Given the description of an element on the screen output the (x, y) to click on. 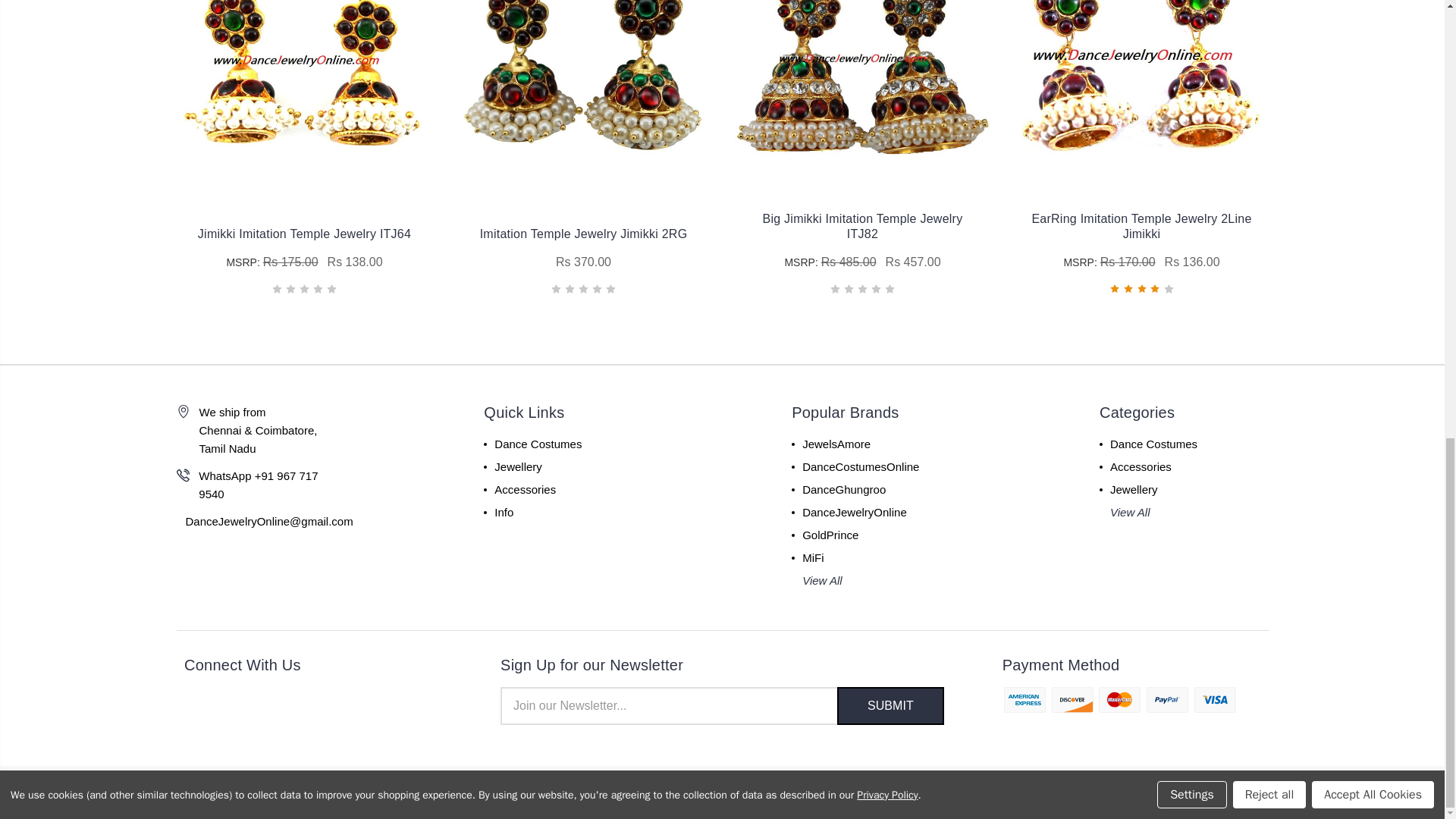
Big Jimikki Imitation Temple Jewelry ITJ82 (861, 79)
EarRing Imitation Temple Jewelry 2Line Jimikki (1141, 89)
Dance Jewellery Earring (582, 82)
submit (890, 705)
Jimikki Imitation Temple Jewelry ITJ64 (304, 79)
